Given the description of an element on the screen output the (x, y) to click on. 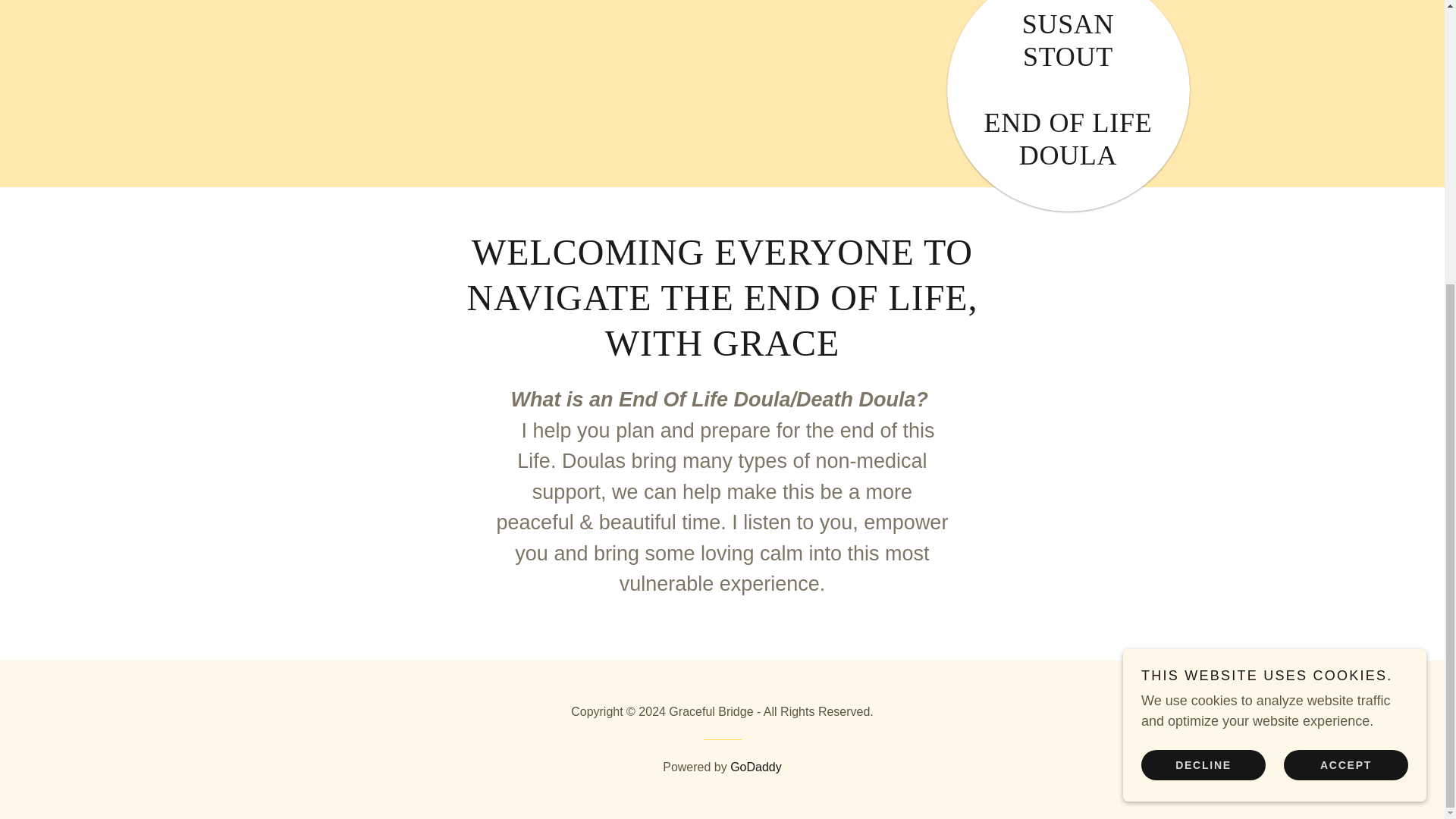
ACCEPT (1345, 337)
DECLINE (1203, 337)
GoDaddy (755, 766)
